Given the description of an element on the screen output the (x, y) to click on. 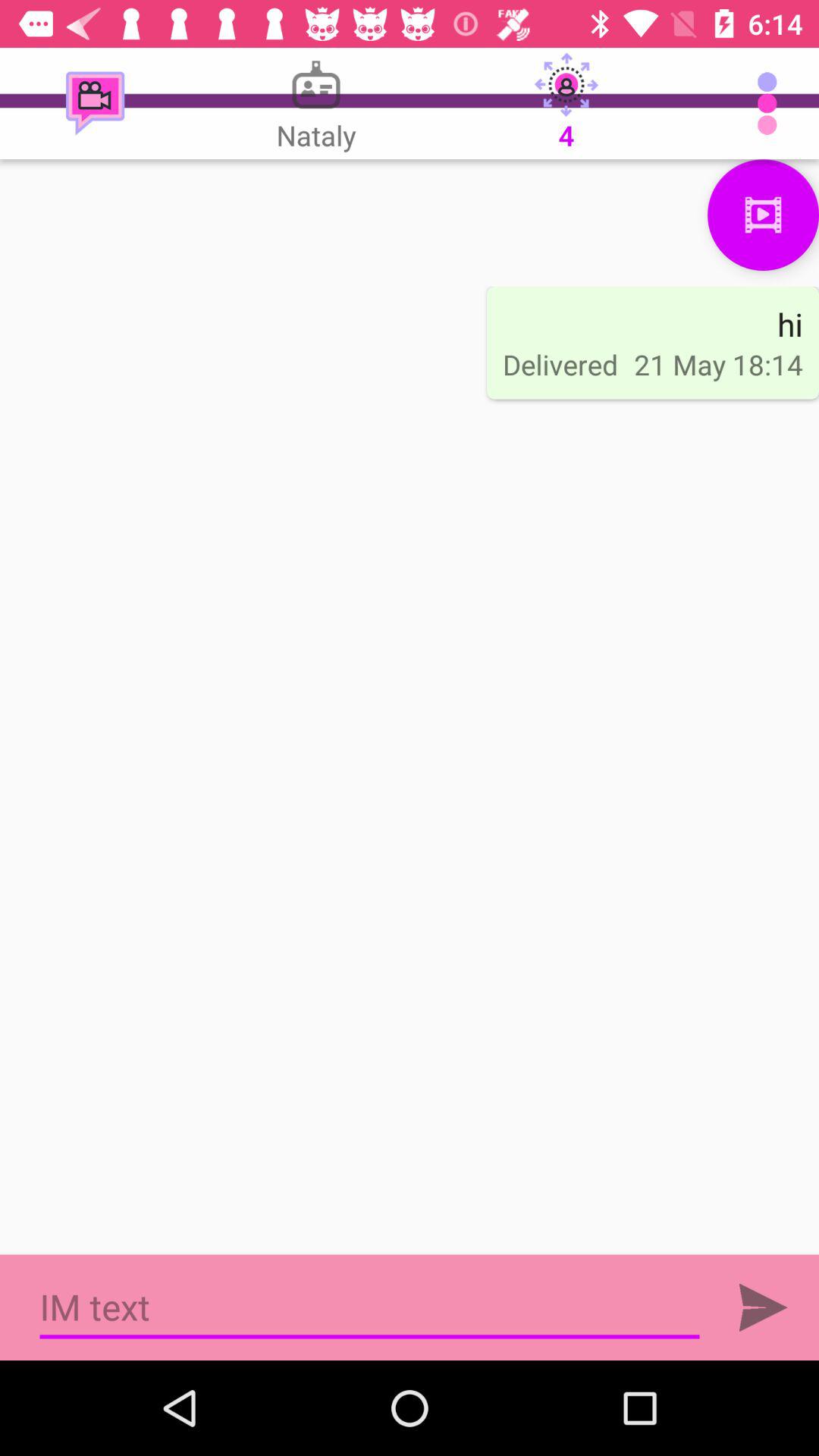
play media file (763, 214)
